Given the description of an element on the screen output the (x, y) to click on. 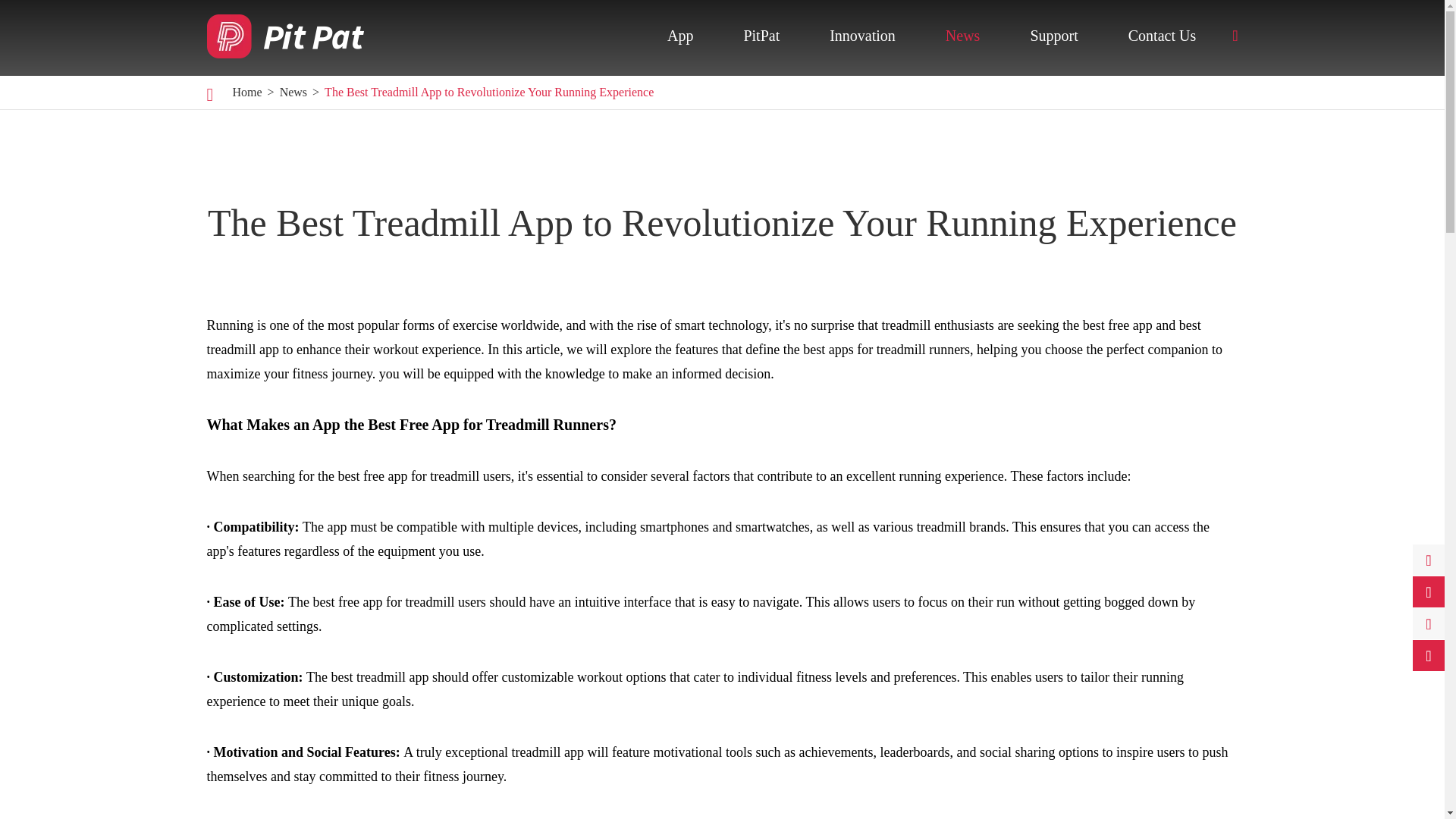
PitPat (760, 35)
Mobile (734, 87)
News (961, 35)
For Competition (897, 87)
App (679, 35)
JOYFIT INC. (284, 35)
Treadmill (1012, 87)
News (293, 91)
Contact Us (1161, 35)
Sales Office (1097, 87)
Innovation (862, 35)
Support (1053, 35)
